Given the description of an element on the screen output the (x, y) to click on. 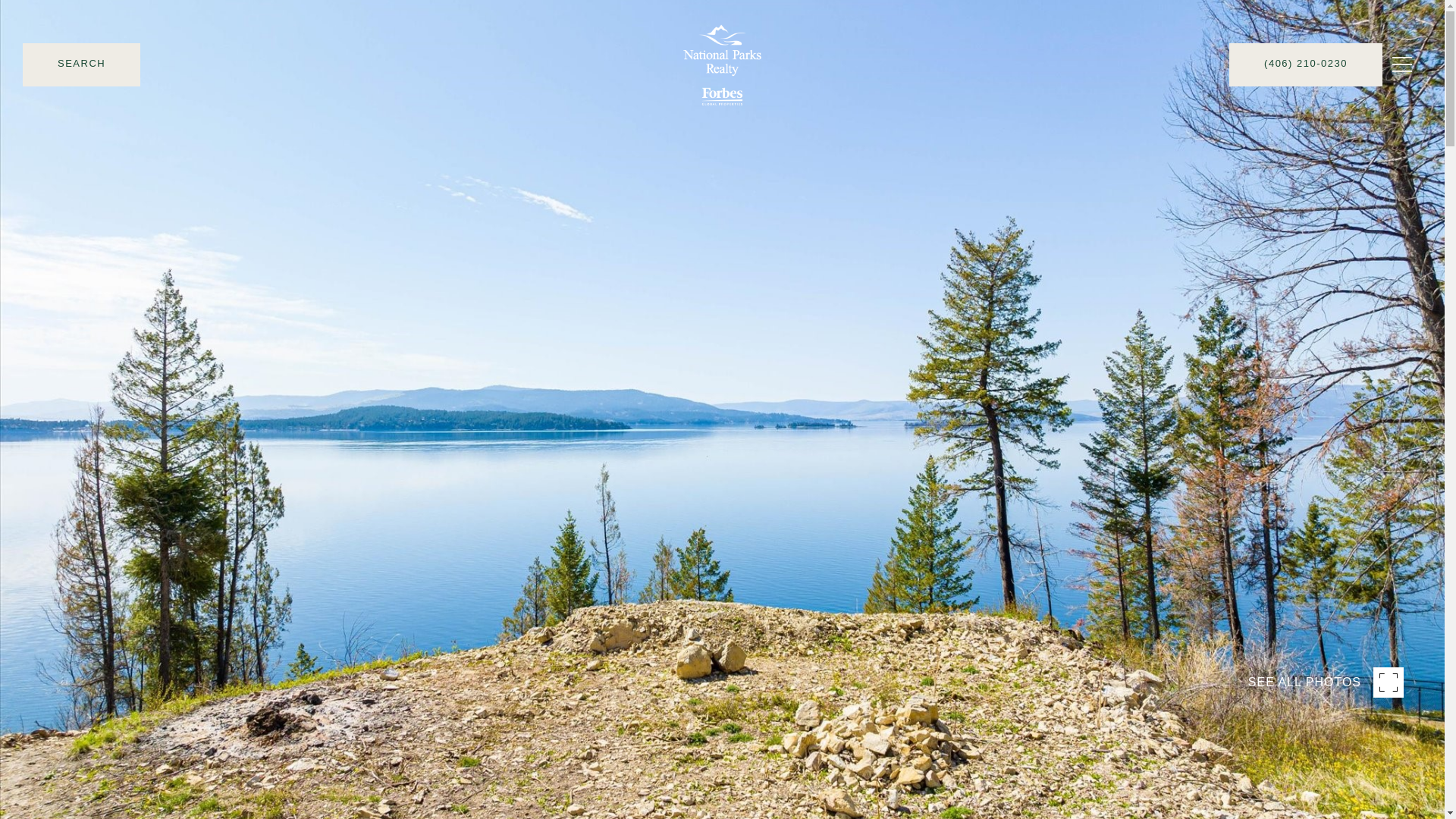
SEARCH (81, 106)
